Given the description of an element on the screen output the (x, y) to click on. 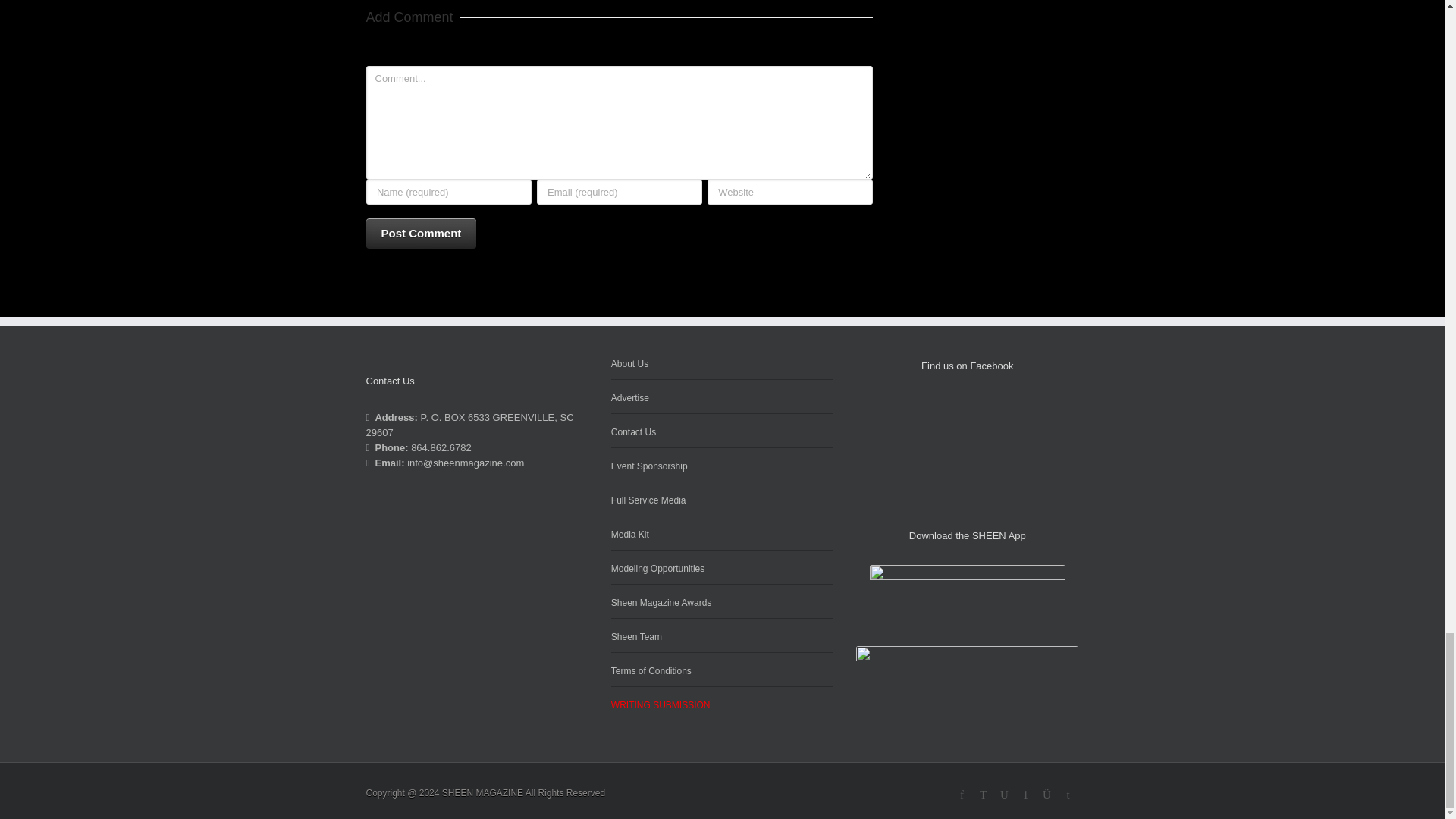
Post Comment (420, 233)
